Given the description of an element on the screen output the (x, y) to click on. 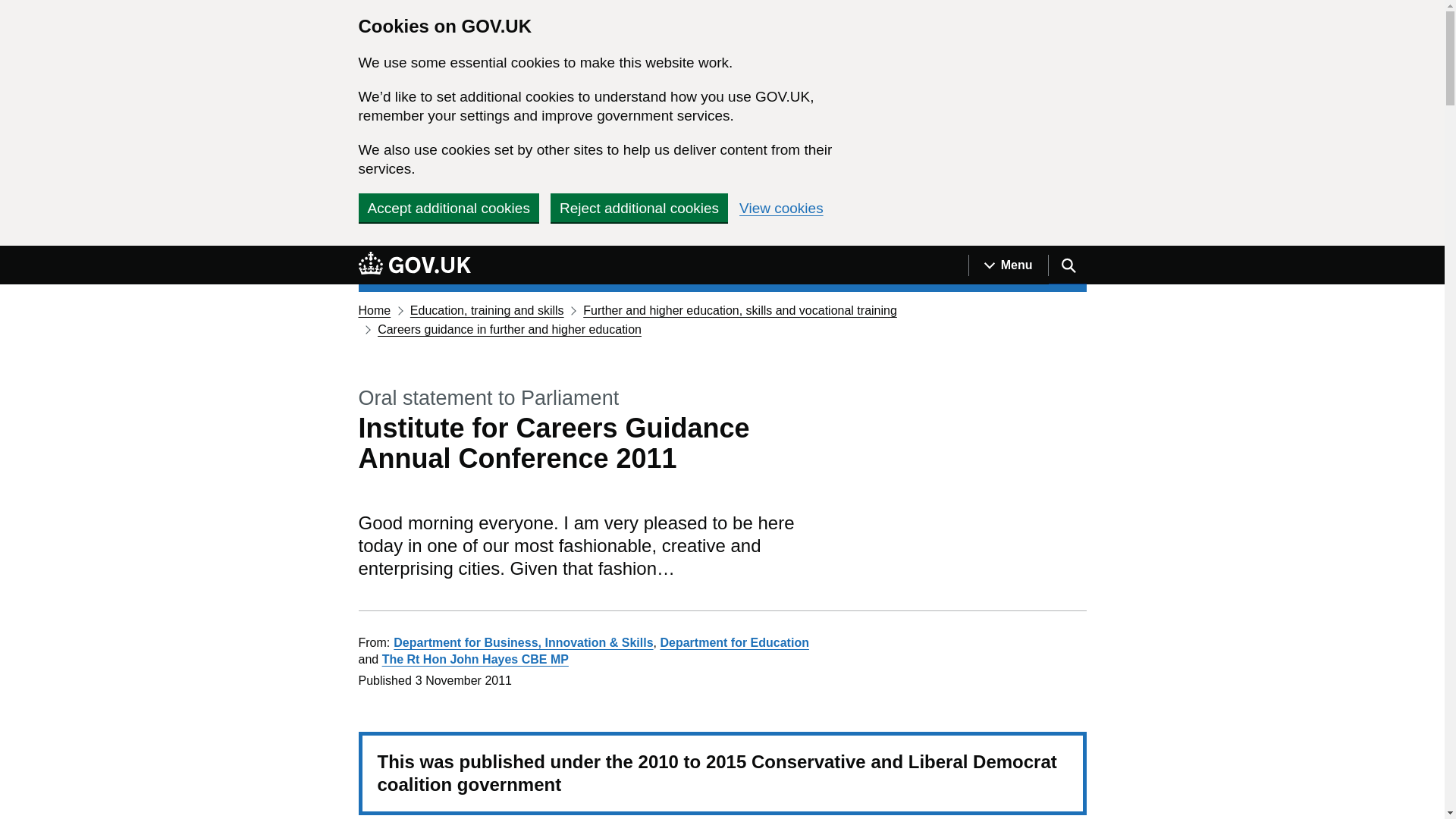
Skip to main content (11, 254)
GOV.UK (414, 264)
Accept additional cookies (448, 207)
Home (374, 309)
Careers guidance in further and higher education (509, 328)
Reject additional cookies (639, 207)
Menu (1008, 265)
View cookies (781, 207)
Department for Education (733, 642)
Search GOV.UK (1067, 265)
GOV.UK (414, 262)
Further and higher education, skills and vocational training (739, 309)
The Rt Hon John Hayes CBE MP (475, 658)
Education, training and skills (487, 309)
